Given the description of an element on the screen output the (x, y) to click on. 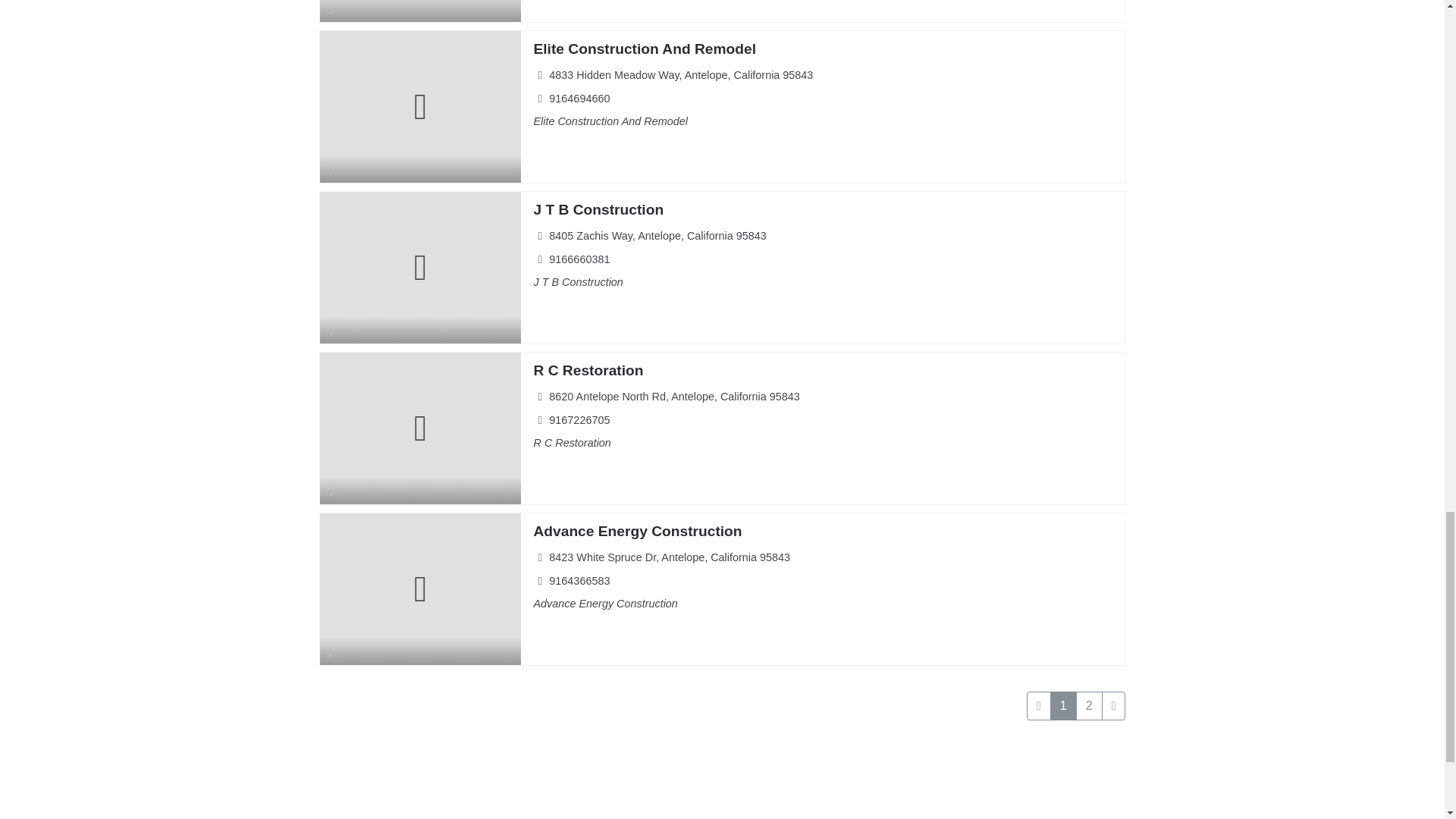
J T B Construction (597, 209)
Bookmark (331, 11)
Elite Construction And Remodel (643, 48)
